Given the description of an element on the screen output the (x, y) to click on. 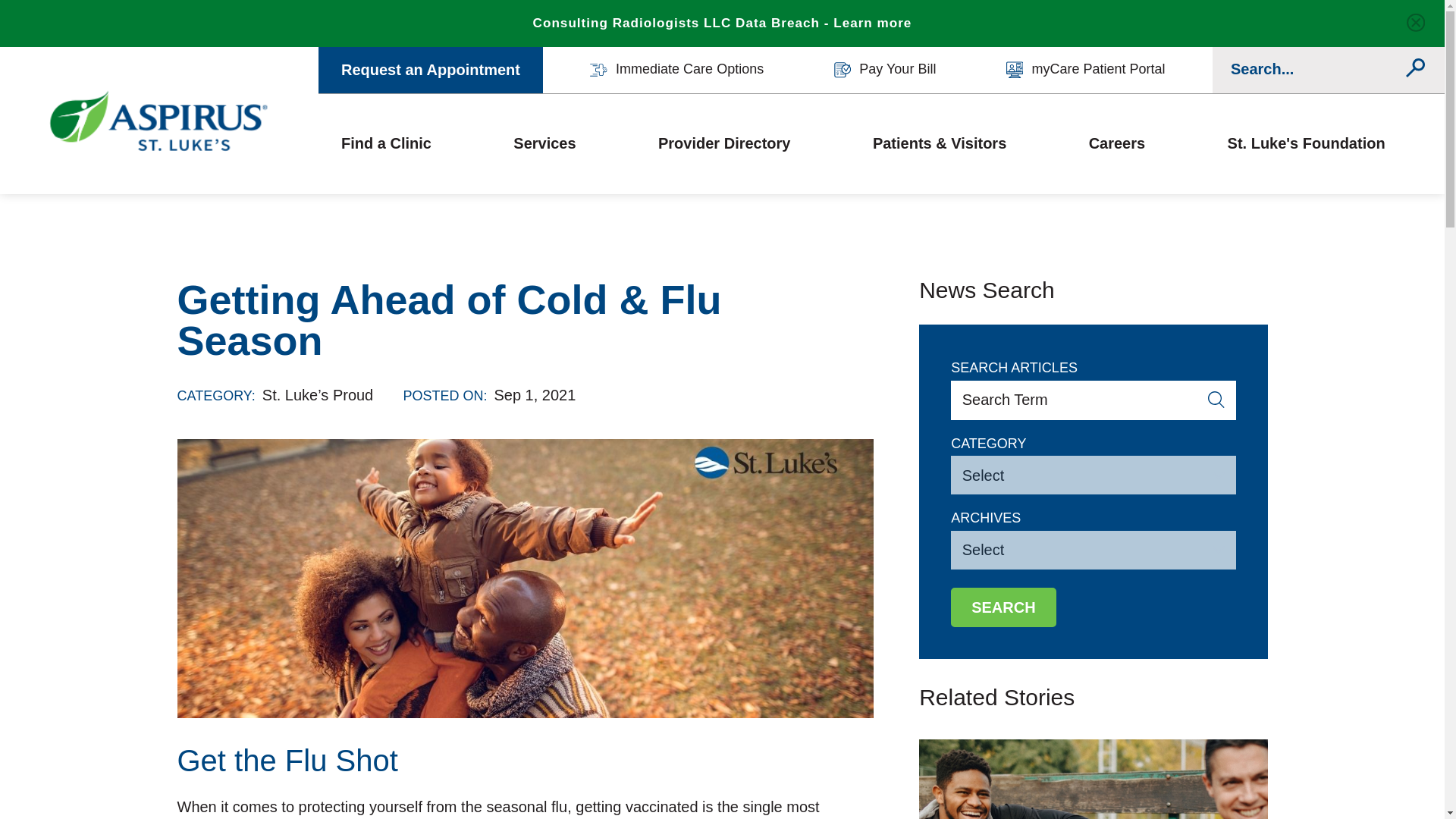
Pay Your Bill (884, 69)
Services (544, 143)
Find a Clinic (385, 143)
Aspirus St. Luke's (158, 120)
myCare Patient Portal (1086, 69)
Request an Appointment (430, 69)
Provider Directory (724, 143)
Immediate Care Options (676, 69)
